Given the description of an element on the screen output the (x, y) to click on. 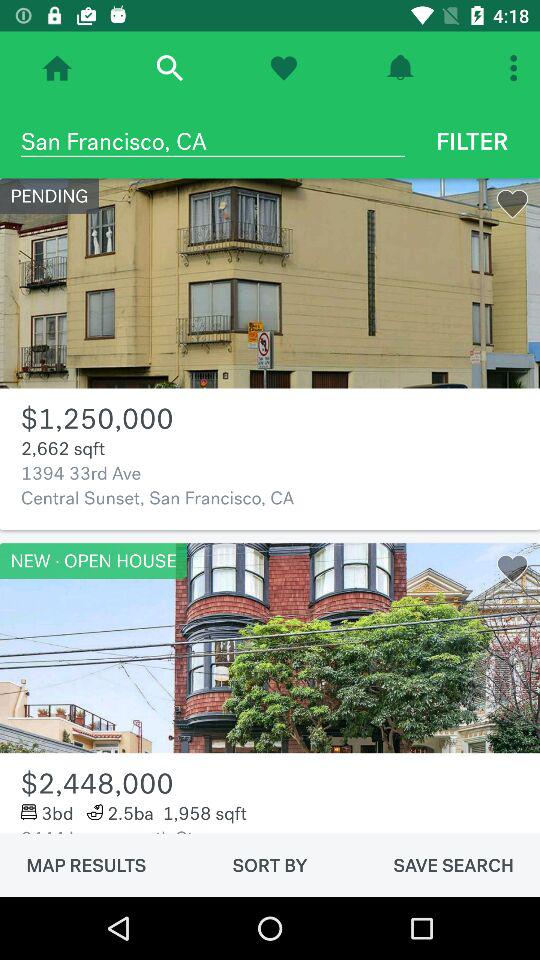
swipe until map results icon (85, 865)
